Given the description of an element on the screen output the (x, y) to click on. 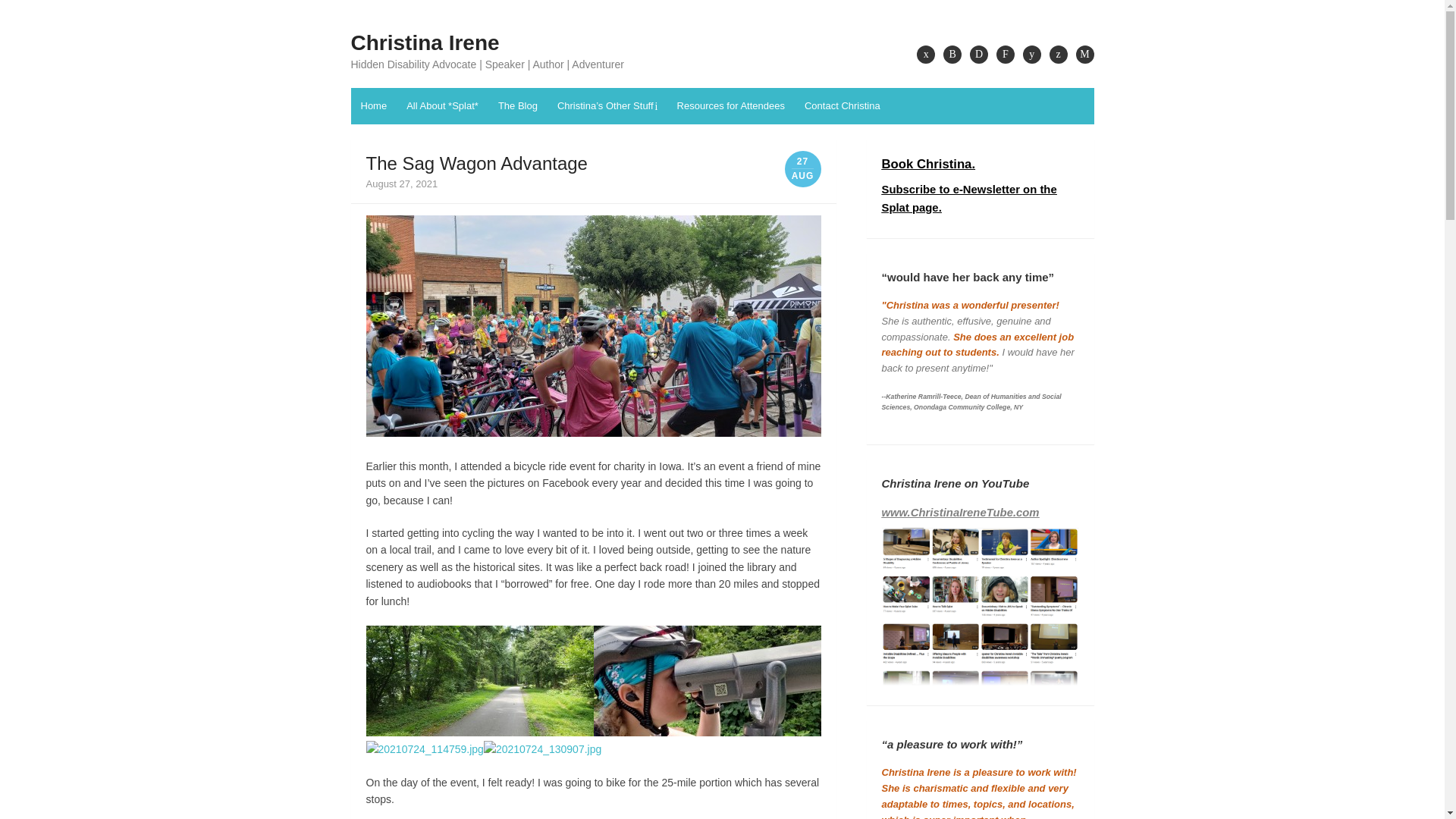
Resources for Attendees (730, 105)
Christina Irene (424, 43)
Contact Christina (841, 105)
Home (373, 105)
The Blog (517, 105)
